Given the description of an element on the screen output the (x, y) to click on. 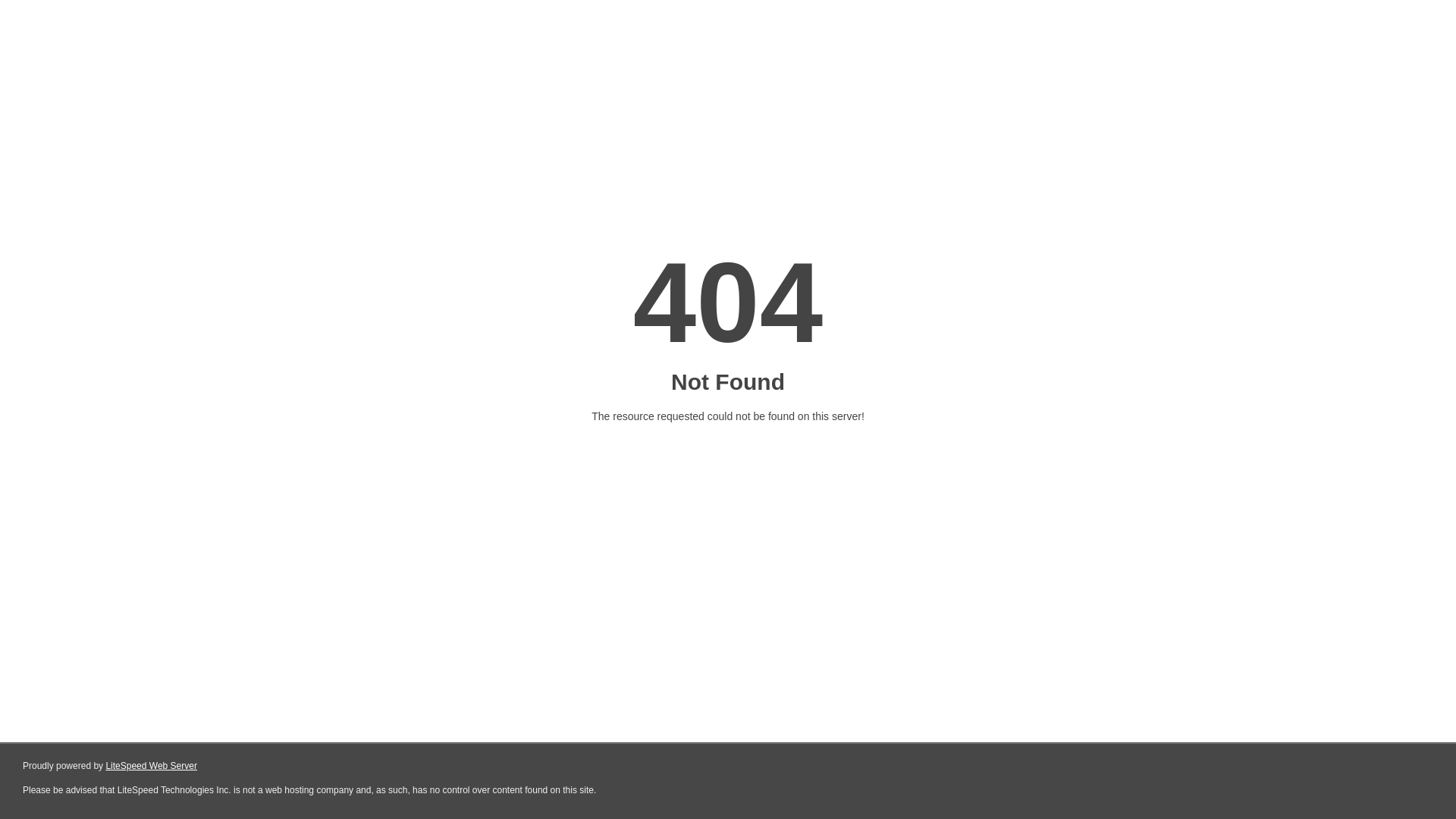
LiteSpeed Web Server Element type: text (151, 765)
